Given the description of an element on the screen output the (x, y) to click on. 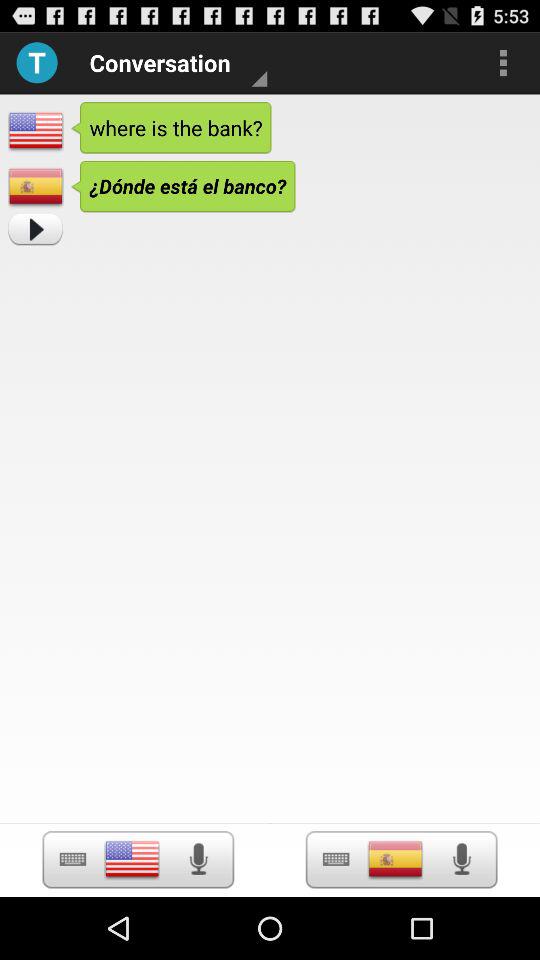
open microphone options (461, 859)
